Given the description of an element on the screen output the (x, y) to click on. 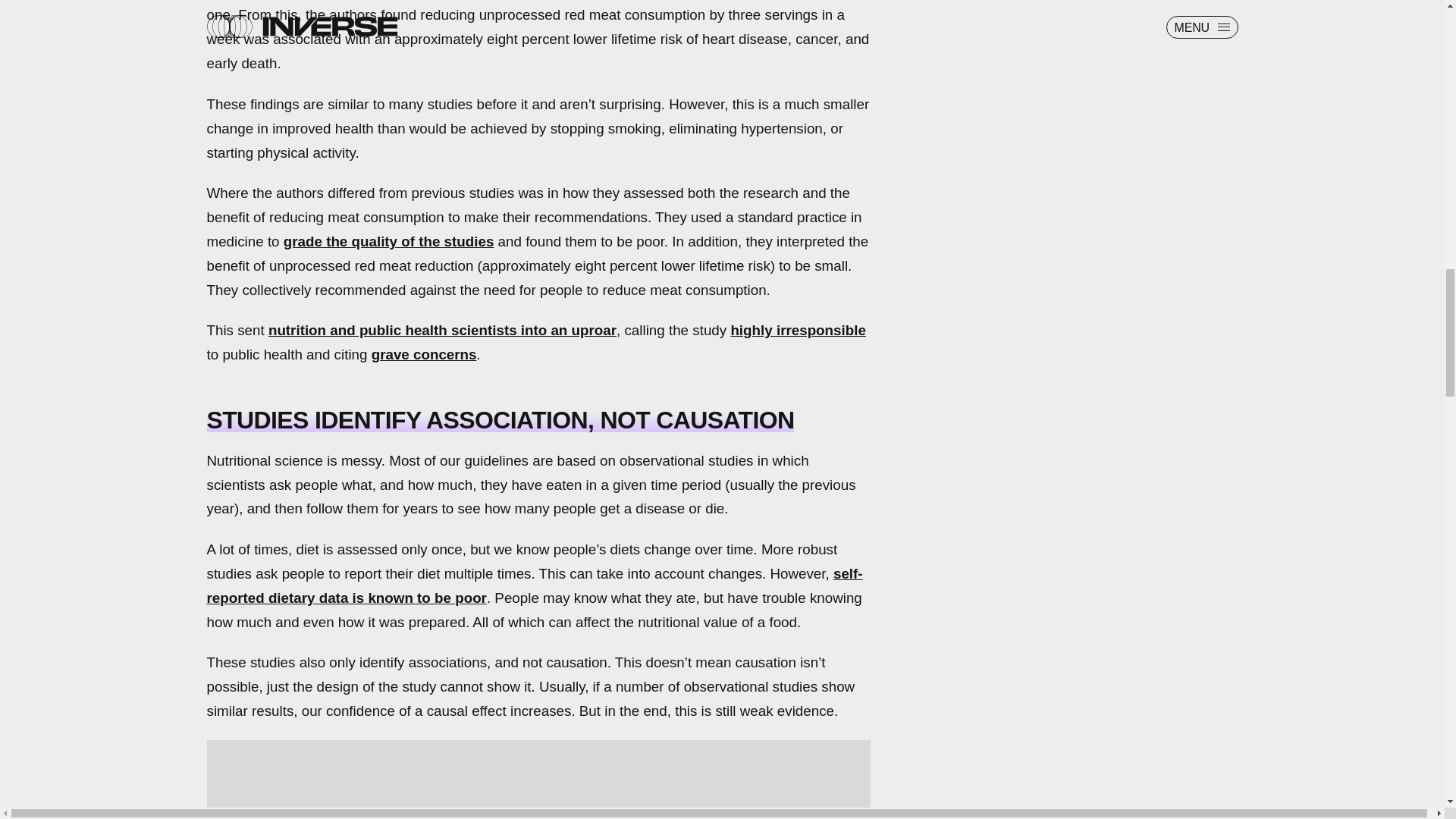
grade the quality of the studies (389, 241)
nutrition and public health scientists into an uproar (441, 330)
self-reported dietary data is known to be poor (533, 585)
grave concerns (424, 354)
highly irresponsible (797, 330)
